Given the description of an element on the screen output the (x, y) to click on. 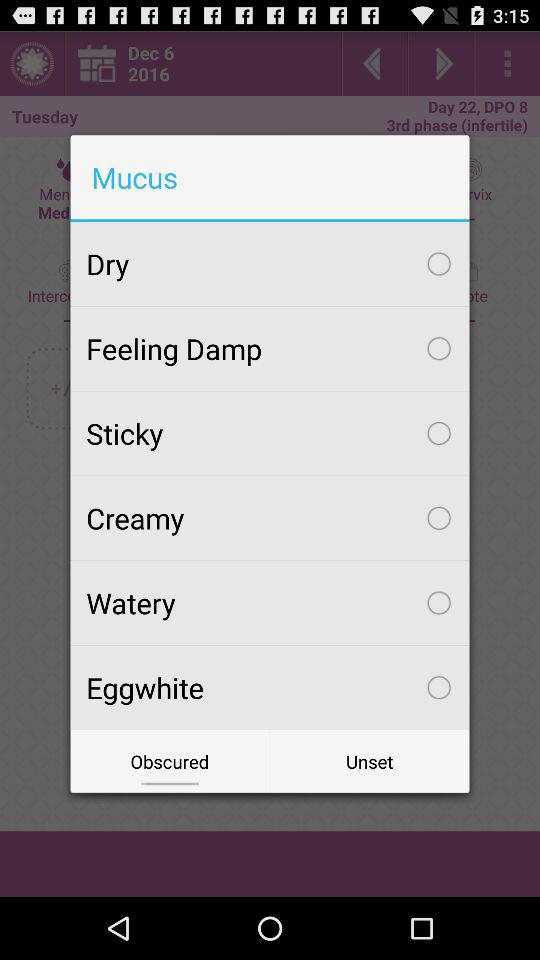
turn on item above sticky (269, 348)
